Given the description of an element on the screen output the (x, y) to click on. 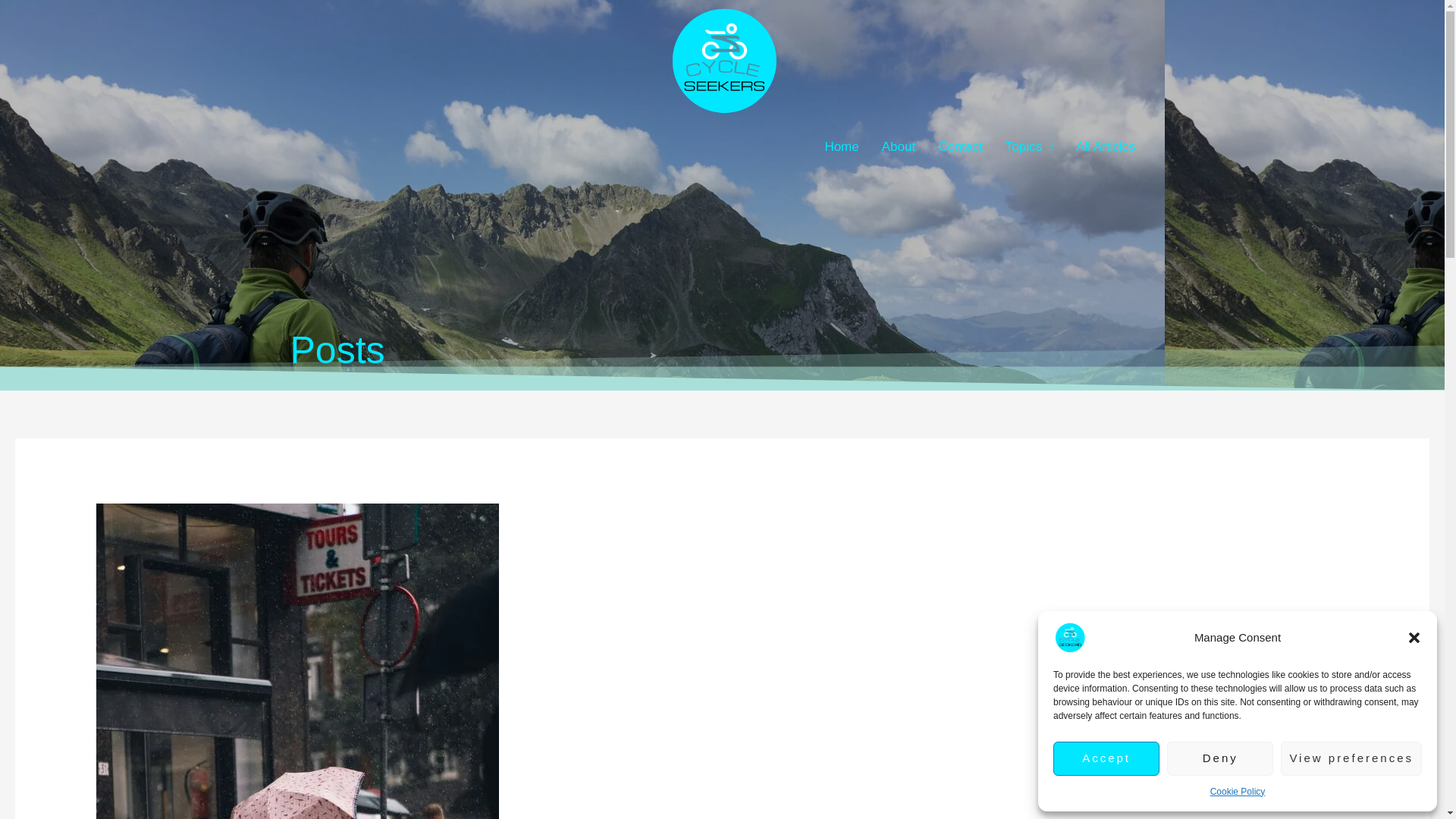
Topics (1029, 146)
Contact (960, 146)
Home (840, 146)
Deny (1219, 758)
Cookie Policy (1237, 791)
View preferences (1351, 758)
Accept (1105, 758)
About (898, 146)
All Articles (1105, 146)
